Given the description of an element on the screen output the (x, y) to click on. 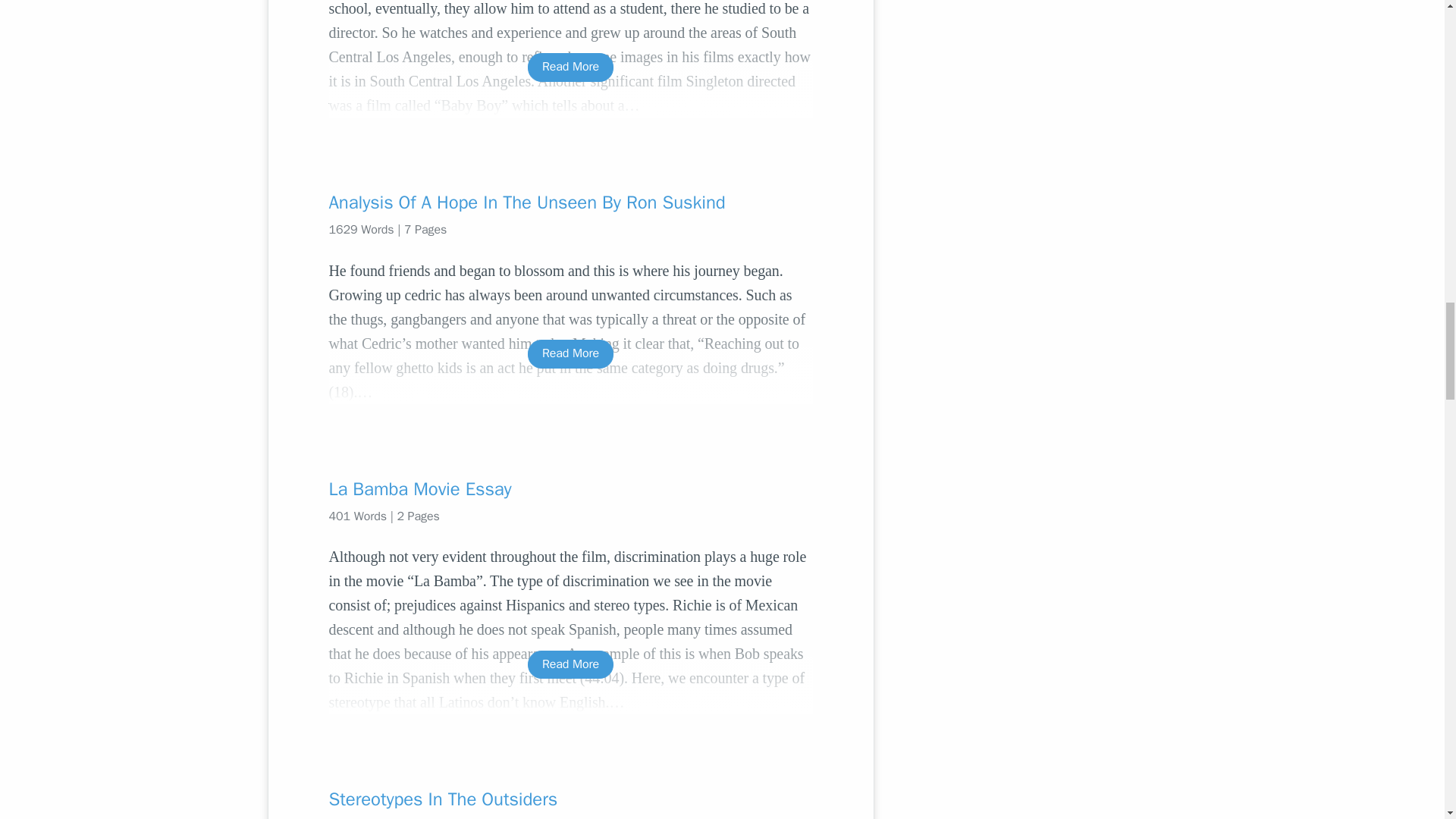
Read More (569, 353)
Read More (569, 664)
La Bamba Movie Essay (570, 487)
Read More (569, 67)
Analysis Of A Hope In The Unseen By Ron Suskind (570, 202)
Stereotypes In The Outsiders (570, 799)
